Given the description of an element on the screen output the (x, y) to click on. 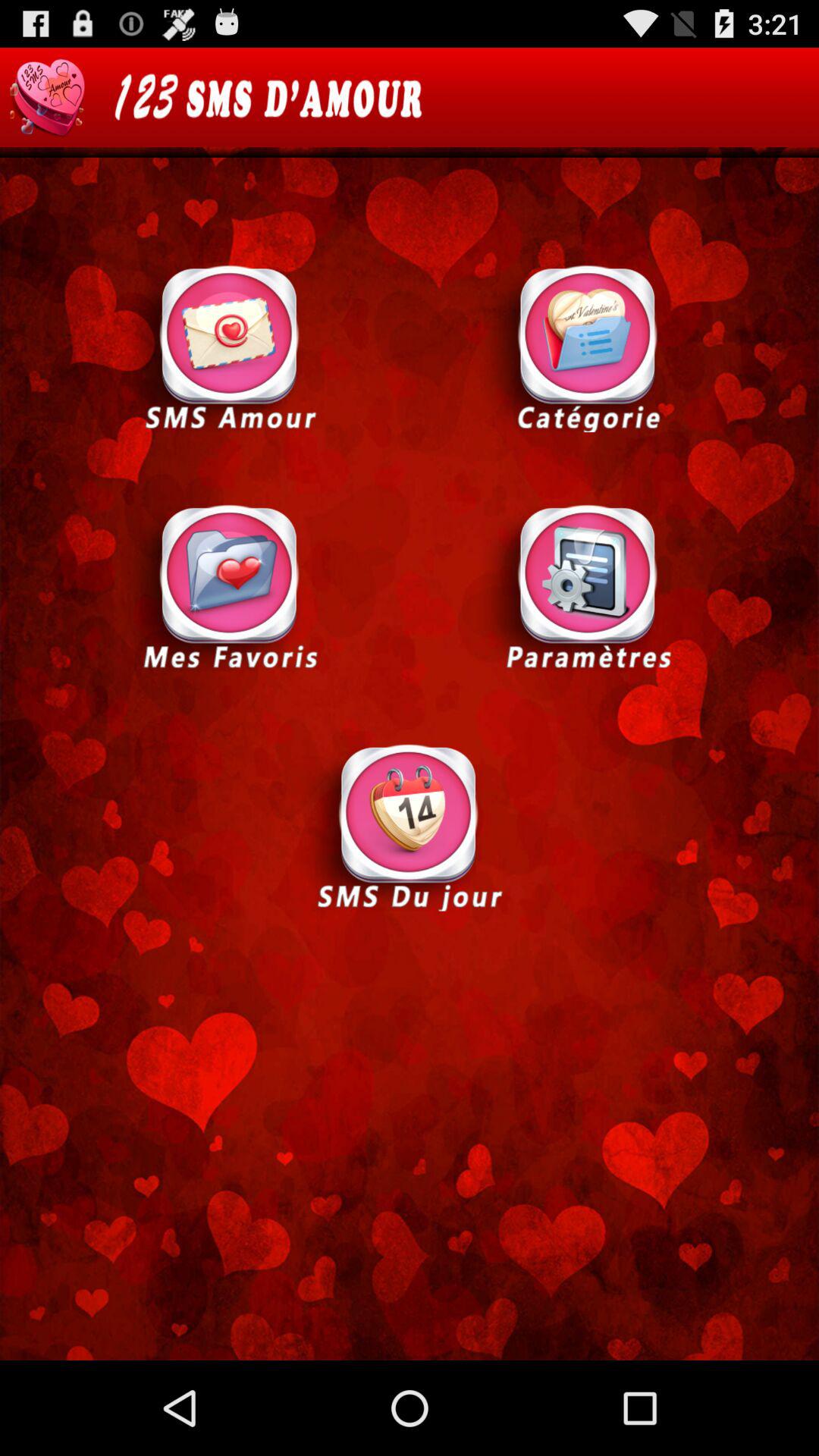
mes favoris (229, 586)
